Given the description of an element on the screen output the (x, y) to click on. 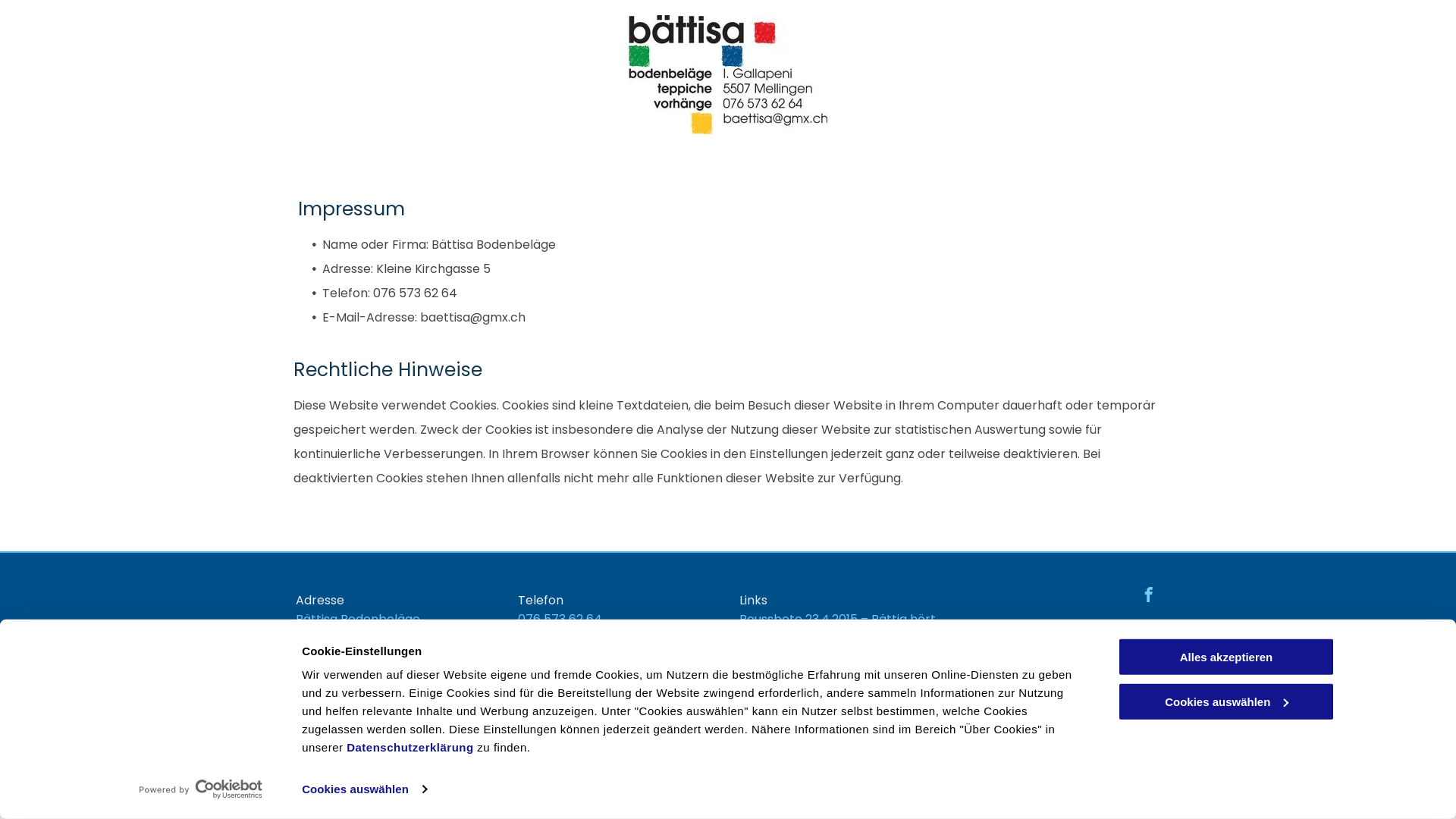
Alles akzeptieren Element type: text (1225, 656)
Impressum Element type: text (1126, 636)
baettisa@gmx.ch Element type: text (569, 657)
076 573 62 64 Element type: text (559, 618)
